Given the description of an element on the screen output the (x, y) to click on. 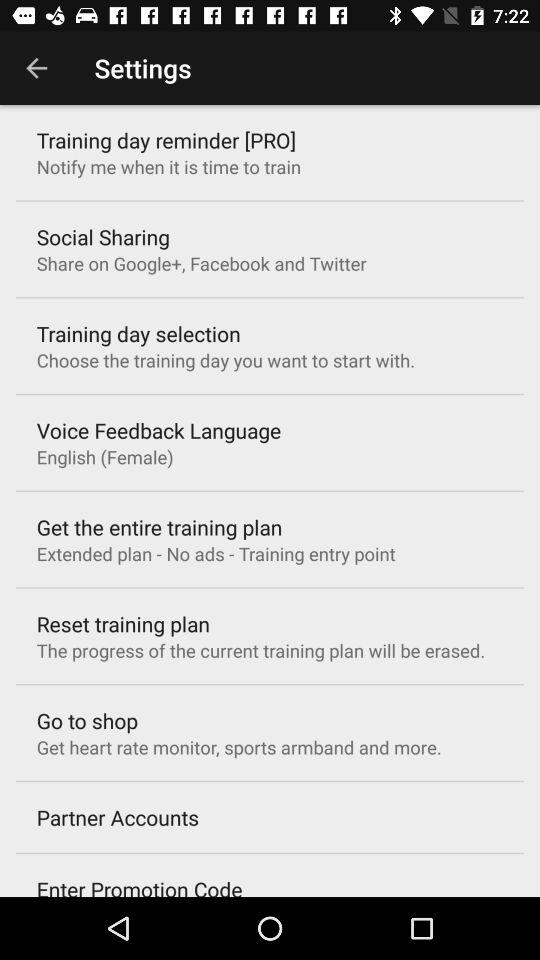
select item below the progress of item (87, 720)
